Given the description of an element on the screen output the (x, y) to click on. 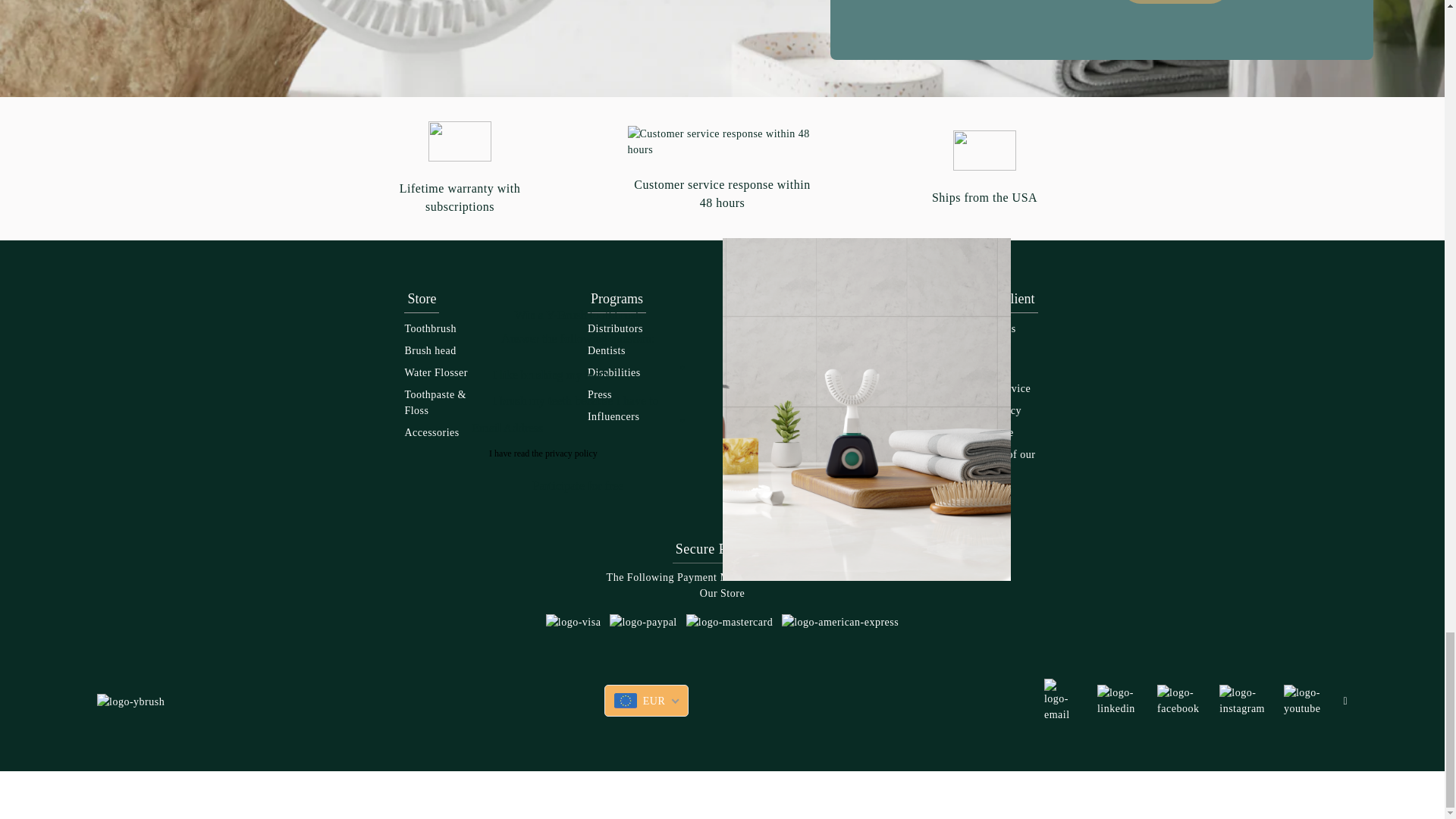
Y-Brush on Instagram (1242, 699)
Y-Brush on Linkedin (1117, 699)
Y-Brush on YouTube (1304, 699)
Y-Brush on Facebook (1179, 699)
